Given the description of an element on the screen output the (x, y) to click on. 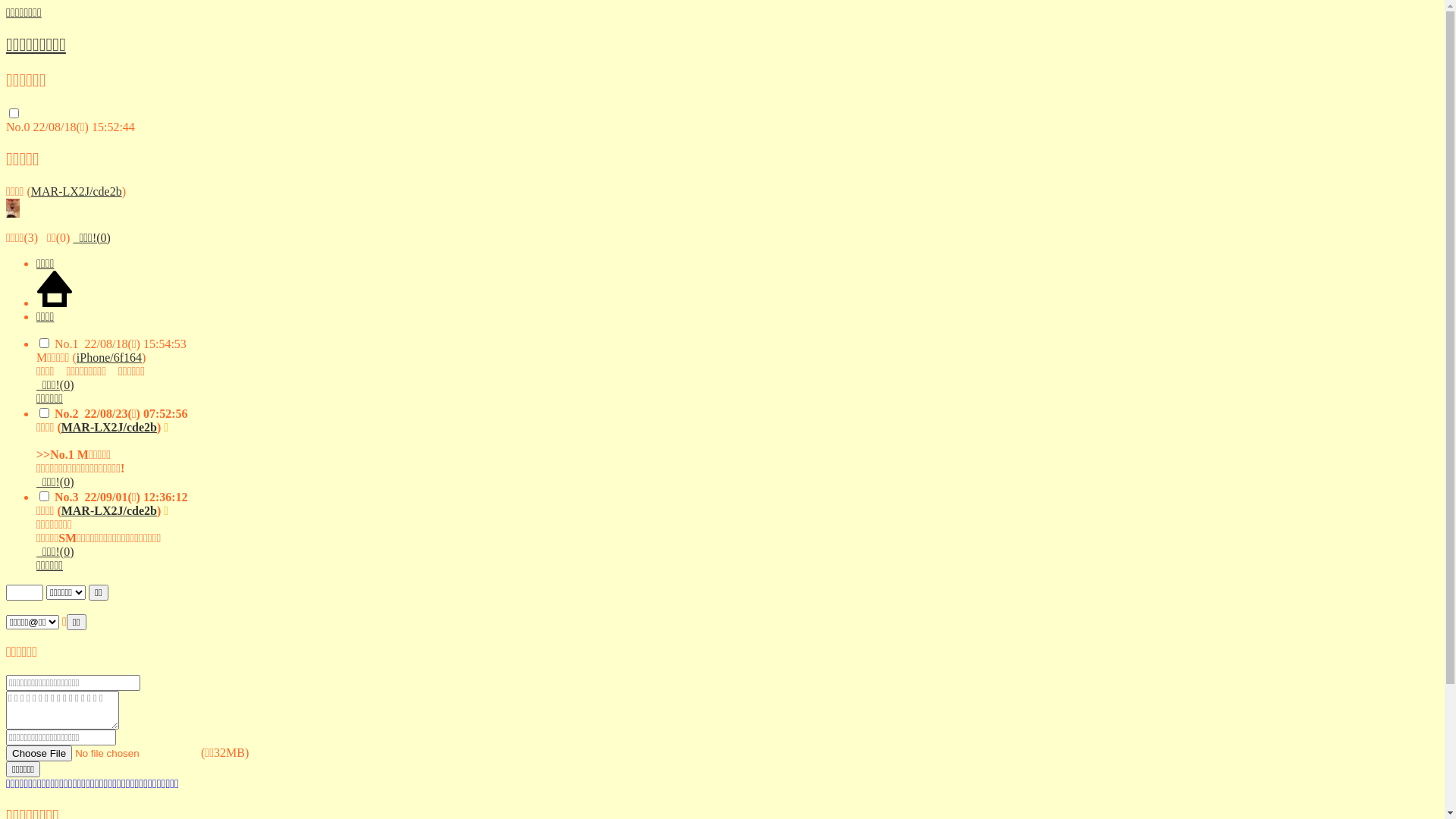
iPhone/6f164 Element type: text (108, 357)
MAR-LX2J/cde2b Element type: text (76, 191)
MAR-LX2J/cde2b Element type: text (108, 510)
MAR-LX2J/cde2b Element type: text (108, 426)
